Given the description of an element on the screen output the (x, y) to click on. 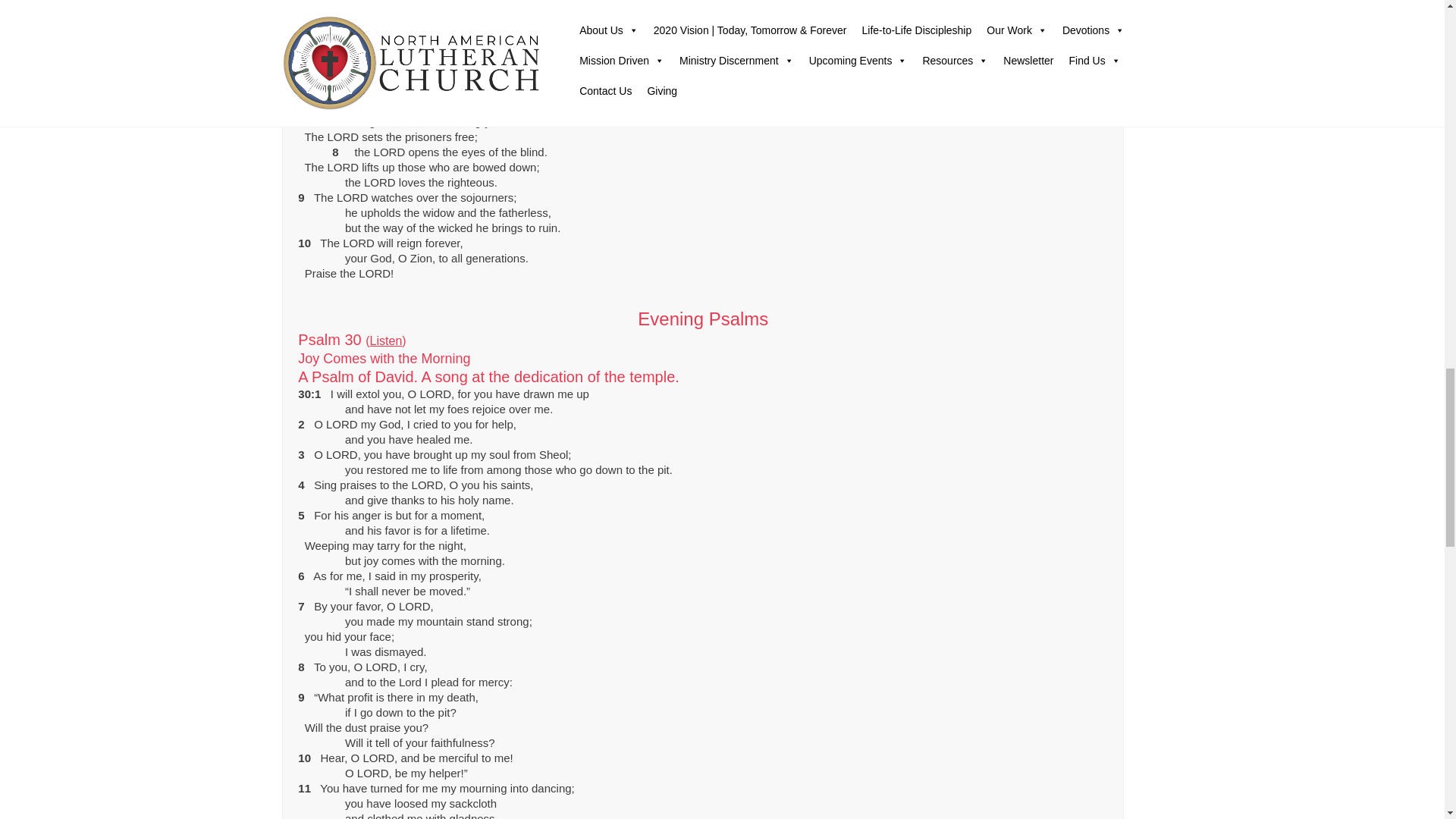
Psalm 30 (386, 340)
